Given the description of an element on the screen output the (x, y) to click on. 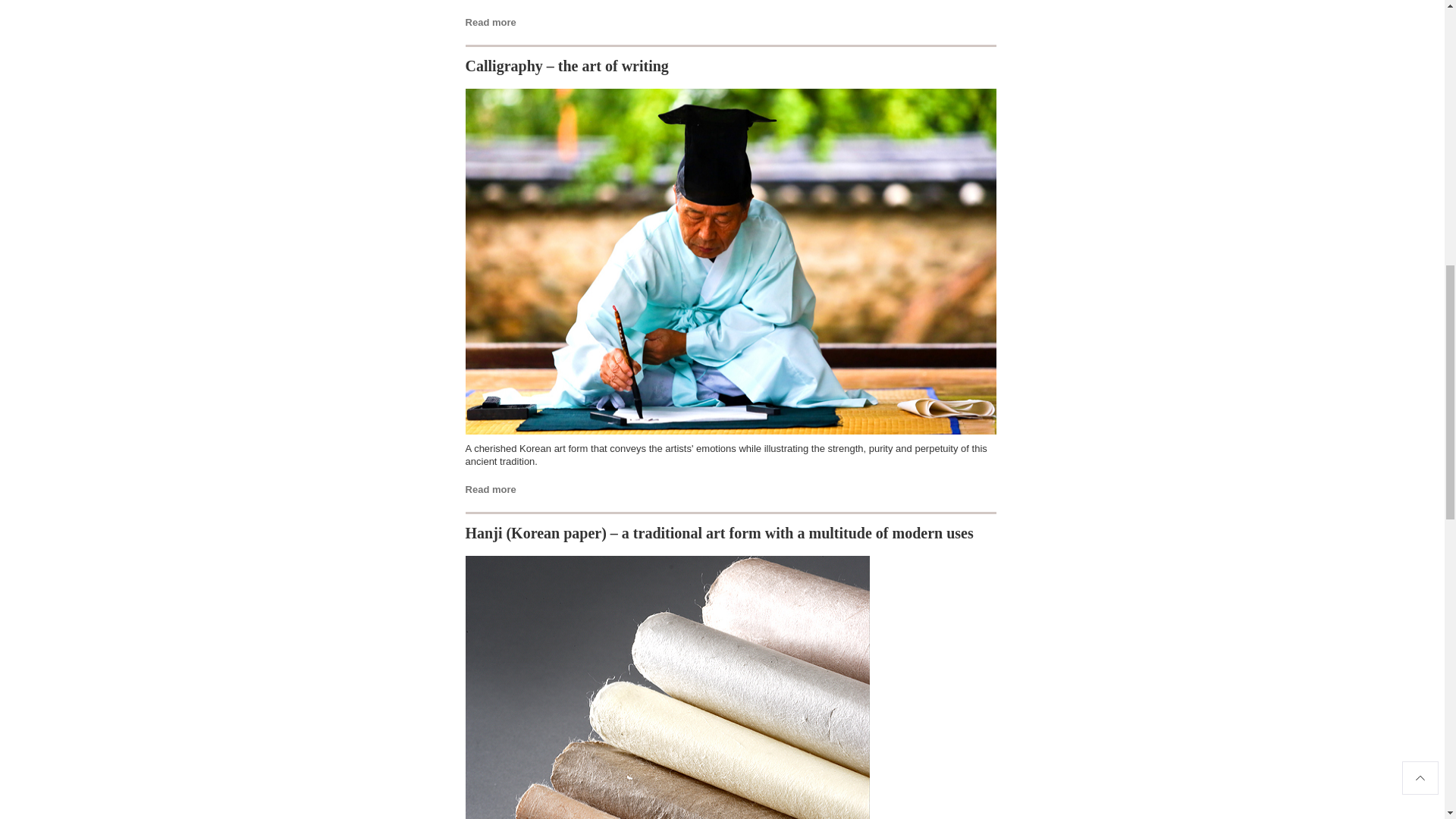
Read more (490, 489)
Read more (490, 21)
